Given the description of an element on the screen output the (x, y) to click on. 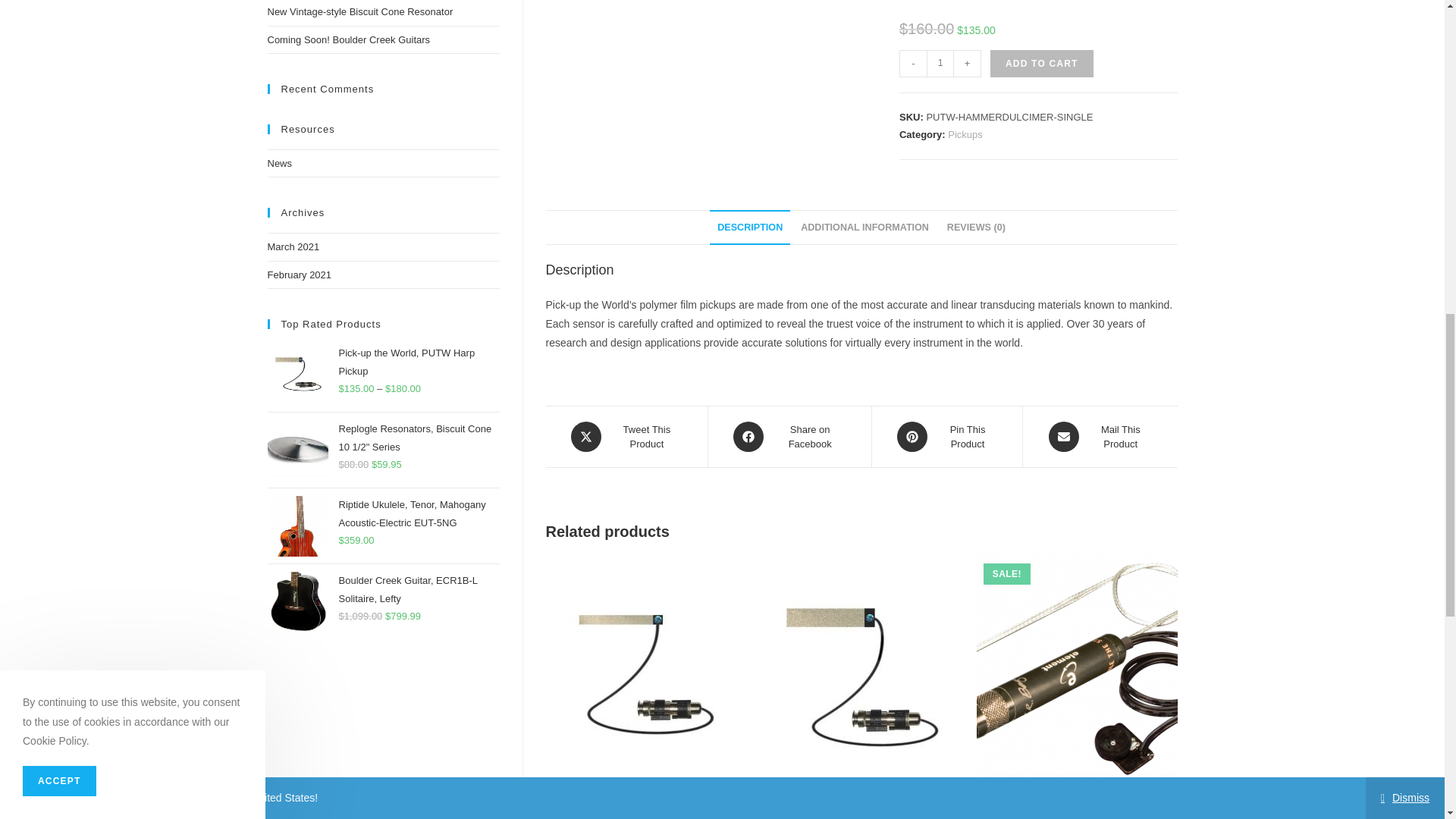
1 (939, 62)
